Given the description of an element on the screen output the (x, y) to click on. 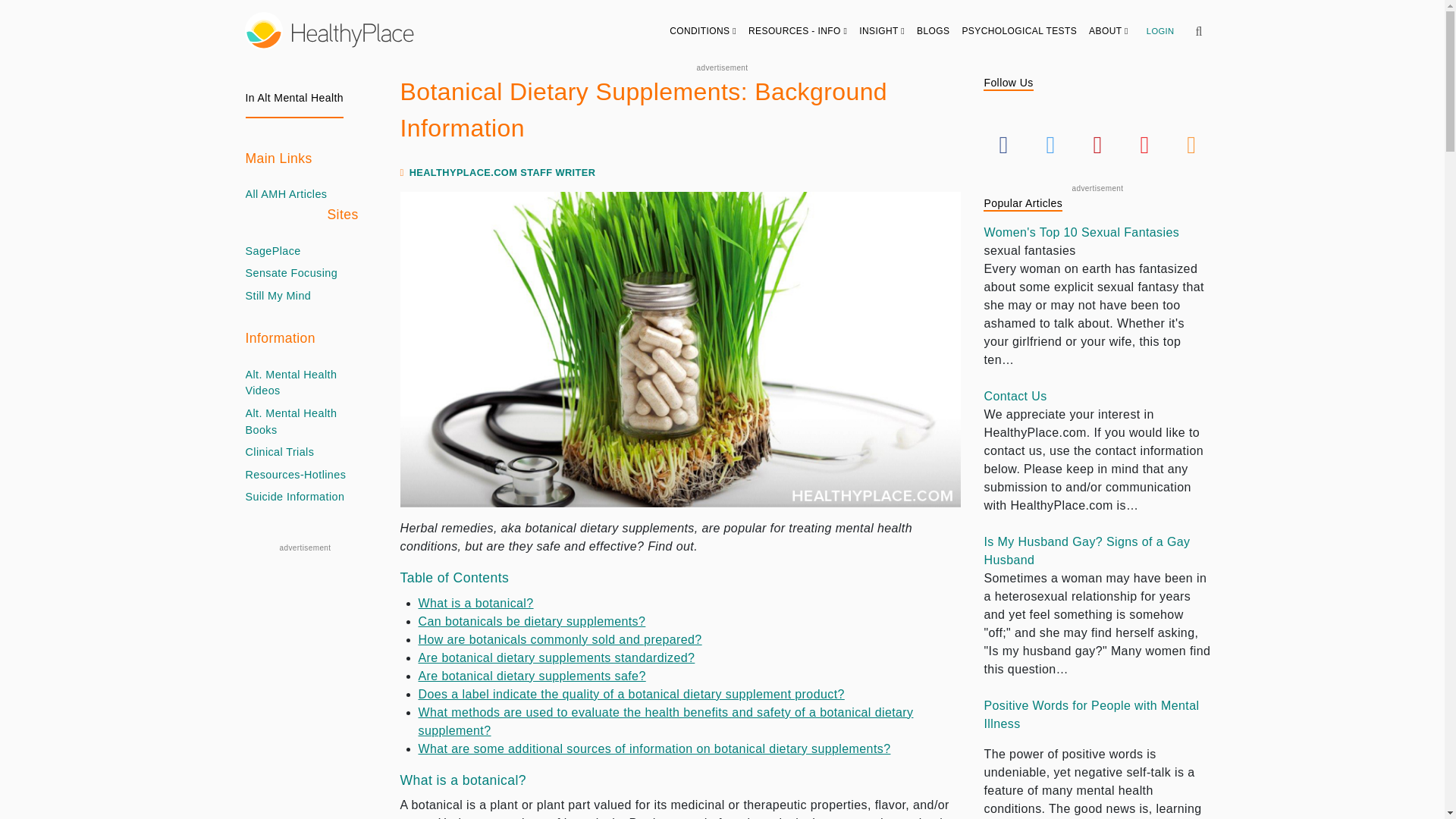
CONDITIONS (702, 31)
RESOURCES - INFO (797, 31)
INSIGHT (882, 31)
